Given the description of an element on the screen output the (x, y) to click on. 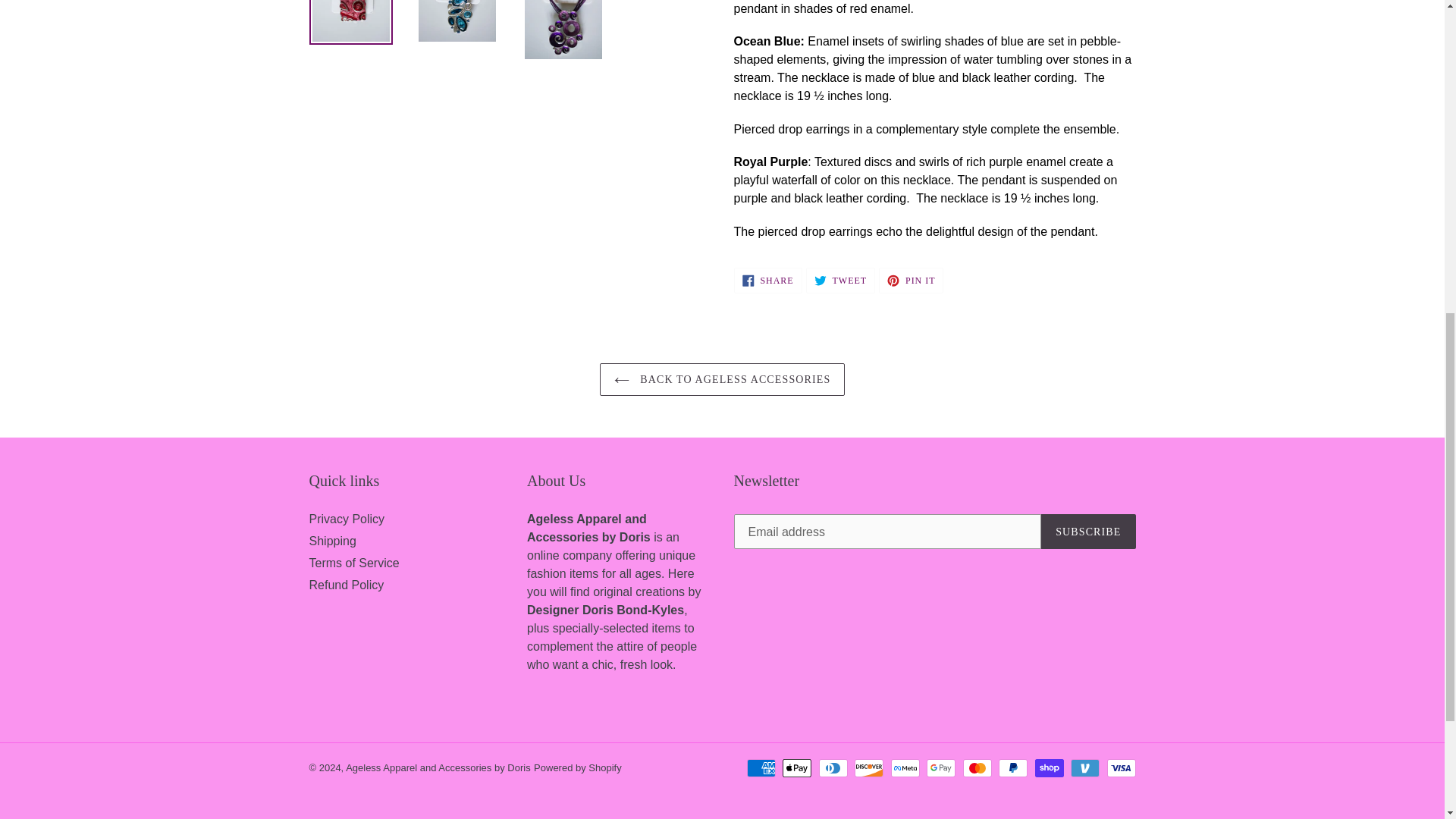
SUBSCRIBE (1088, 531)
BACK TO AGELESS ACCESSORIES (911, 280)
Terms of Service (722, 379)
Refund Policy (767, 280)
Ageless Apparel and Accessories by Doris (353, 562)
Shipping (346, 584)
Privacy Policy (438, 767)
Powered by Shopify (840, 280)
